Given the description of an element on the screen output the (x, y) to click on. 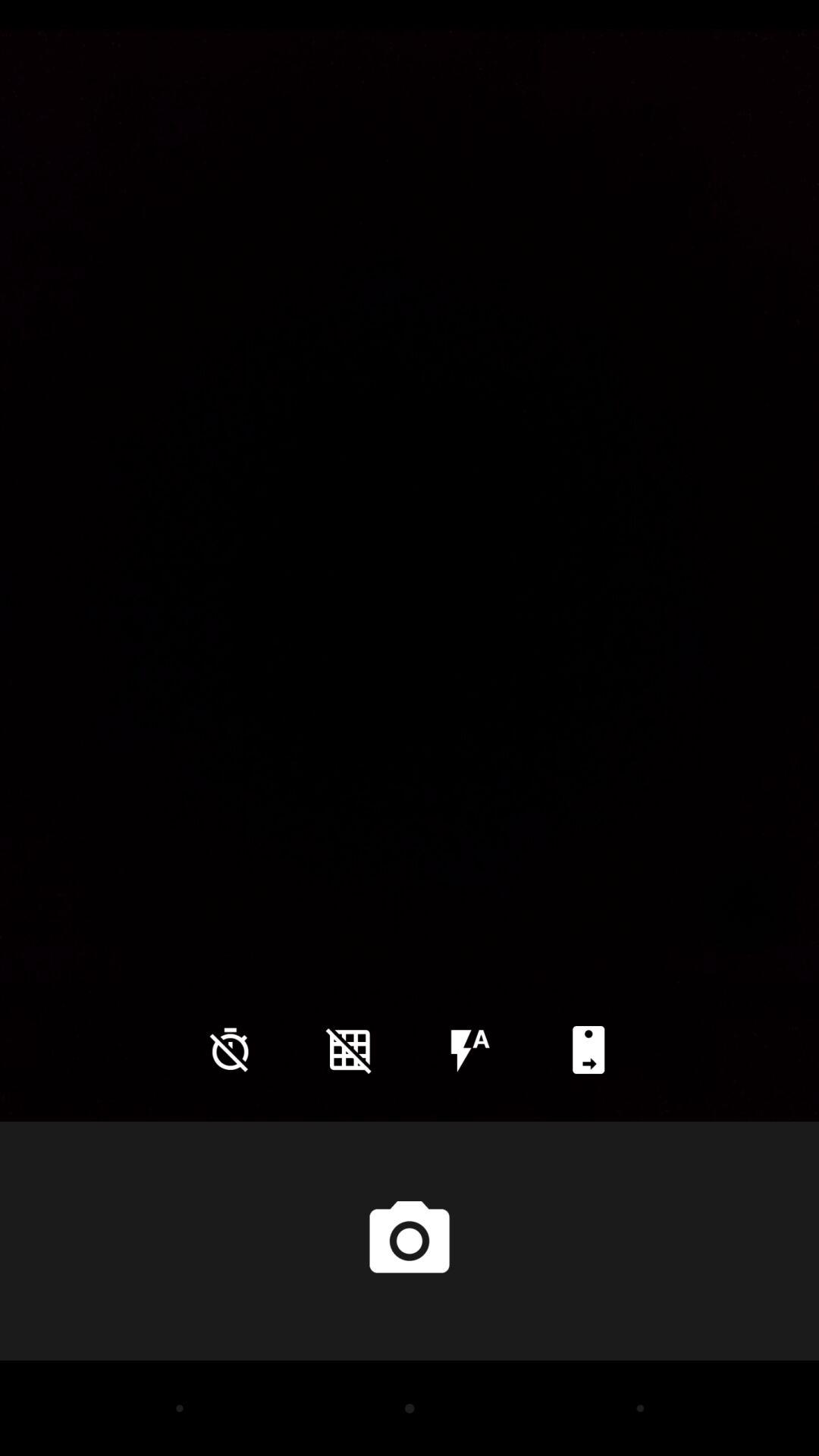
select item at the bottom right corner (588, 1049)
